Given the description of an element on the screen output the (x, y) to click on. 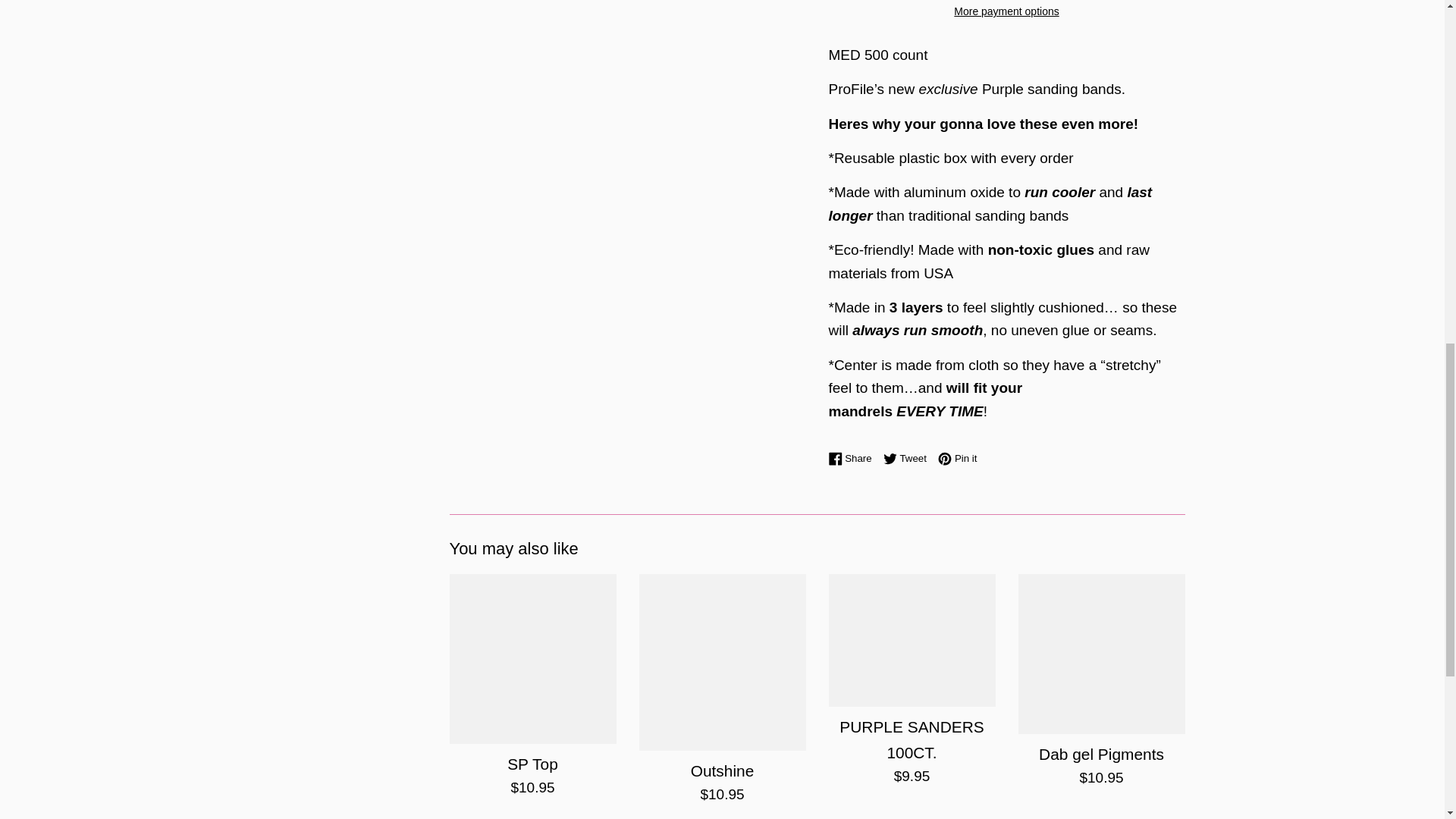
Outshine (722, 662)
SP Top (531, 764)
Tweet on Twitter (908, 458)
Dab gel Pigments (1101, 753)
More payment options (1006, 11)
Dab gel Pigments (1101, 653)
Outshine (722, 770)
PURPLE SANDERS 100CT. (912, 739)
PURPLE SANDERS 100CT. (853, 458)
